Given the description of an element on the screen output the (x, y) to click on. 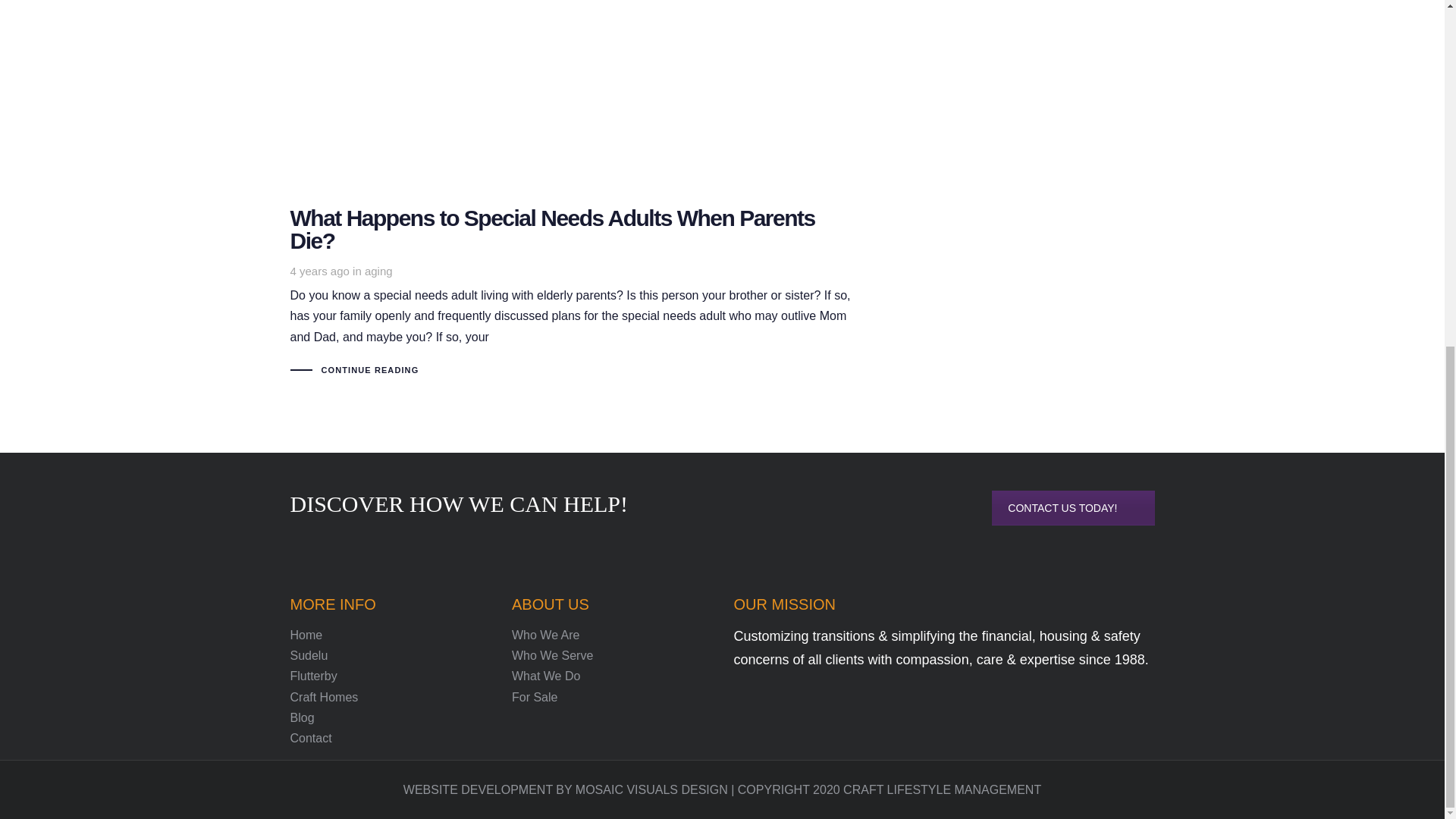
Who We Serve (611, 655)
Craft Homes (389, 697)
Home (389, 634)
Who We Are (611, 634)
Sudelu (389, 655)
CONTINUE READING (369, 370)
Flutterby (389, 675)
What Happens to Special Needs Adults When Parents Die? (574, 229)
What We Do (611, 675)
